Given the description of an element on the screen output the (x, y) to click on. 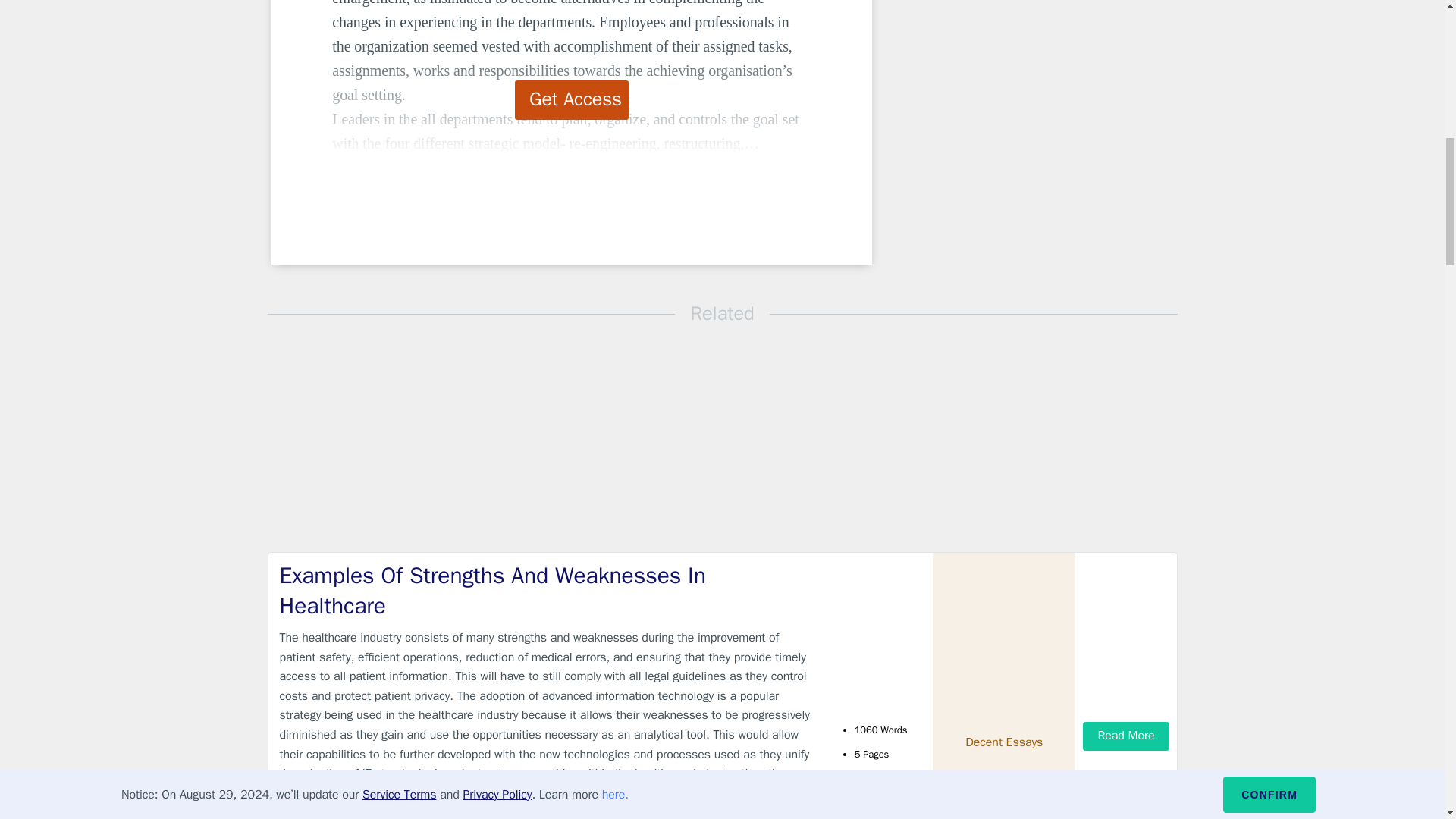
Examples Of Strengths And Weaknesses In Healthcare (548, 590)
Read More (1126, 735)
Get Access (571, 99)
